Given the description of an element on the screen output the (x, y) to click on. 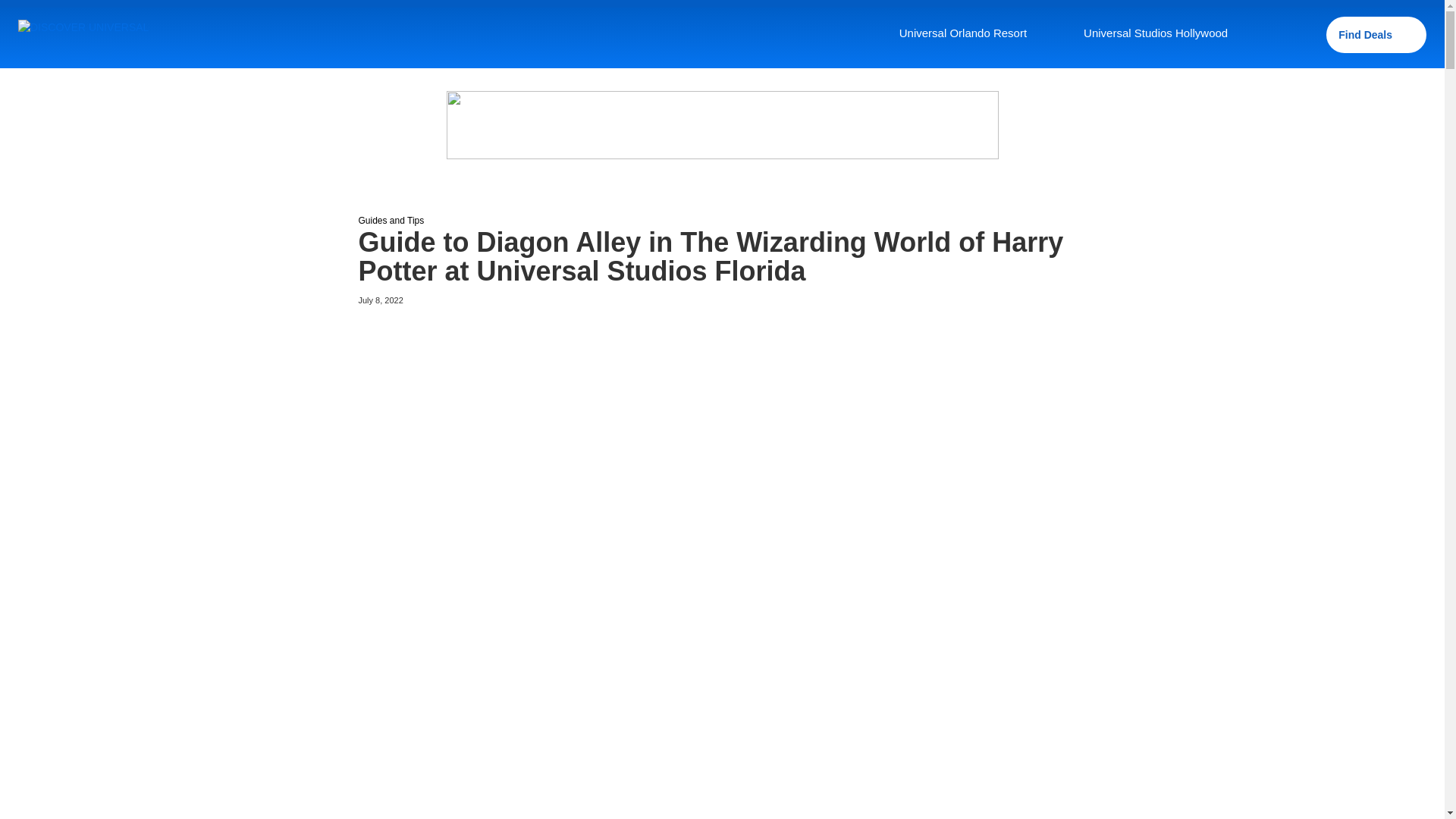
Universal Orlando Resort (973, 34)
Universal Studios Hollywood (1166, 34)
Find Deals (1376, 34)
View all posts in Guides and Tips (390, 220)
SEARCH (1301, 34)
